Given the description of an element on the screen output the (x, y) to click on. 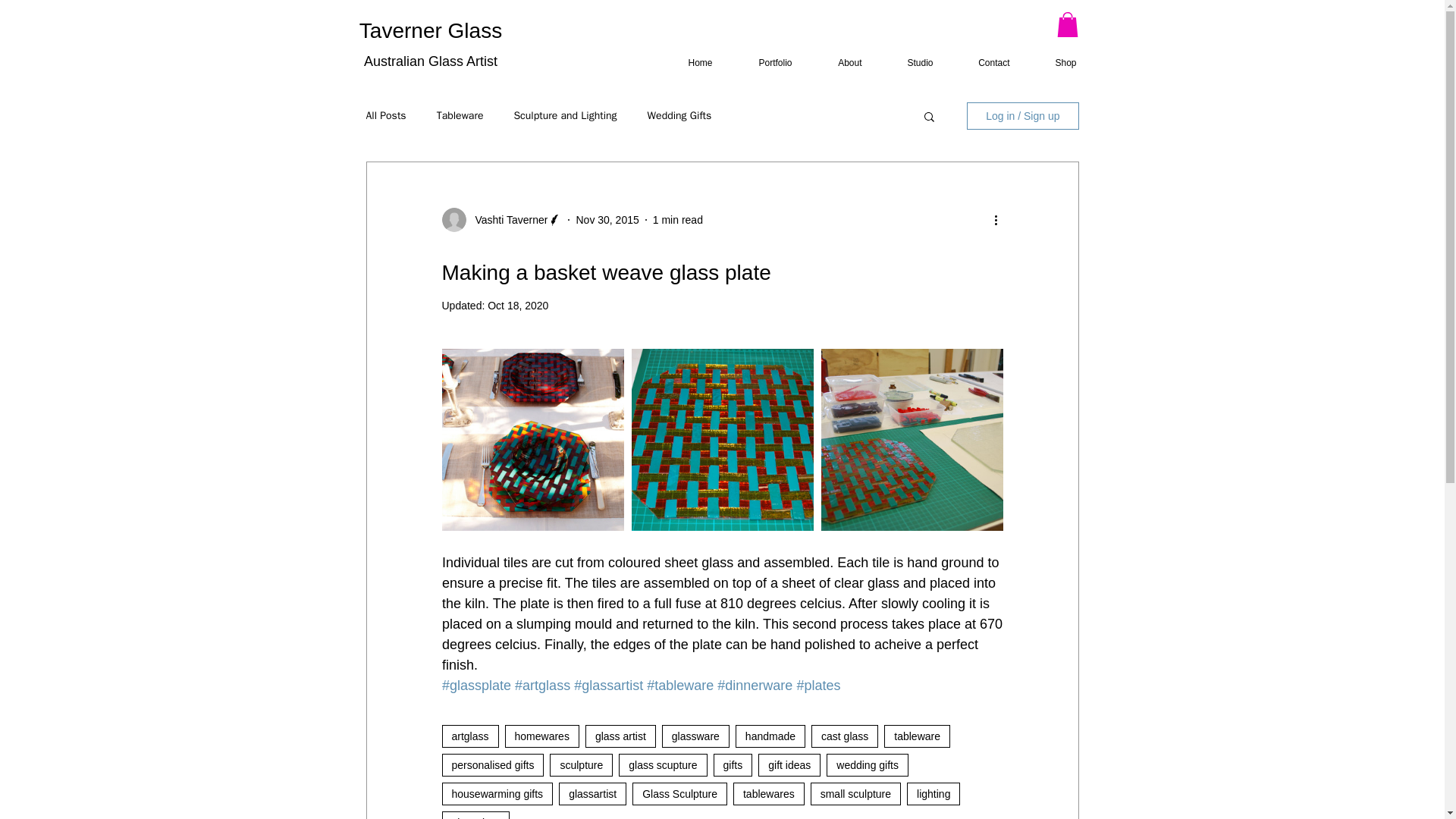
Home (690, 63)
Nov 30, 2015 (607, 219)
personalised gifts (492, 764)
Contact (984, 63)
tableware (916, 735)
Studio (910, 63)
About (840, 63)
Tableware (459, 115)
All Posts (385, 115)
Vashti Taverner (506, 220)
gift ideas (789, 764)
cast glass (843, 735)
Glass Sculpture (678, 793)
glassartist (592, 793)
glass scupture (662, 764)
